Given the description of an element on the screen output the (x, y) to click on. 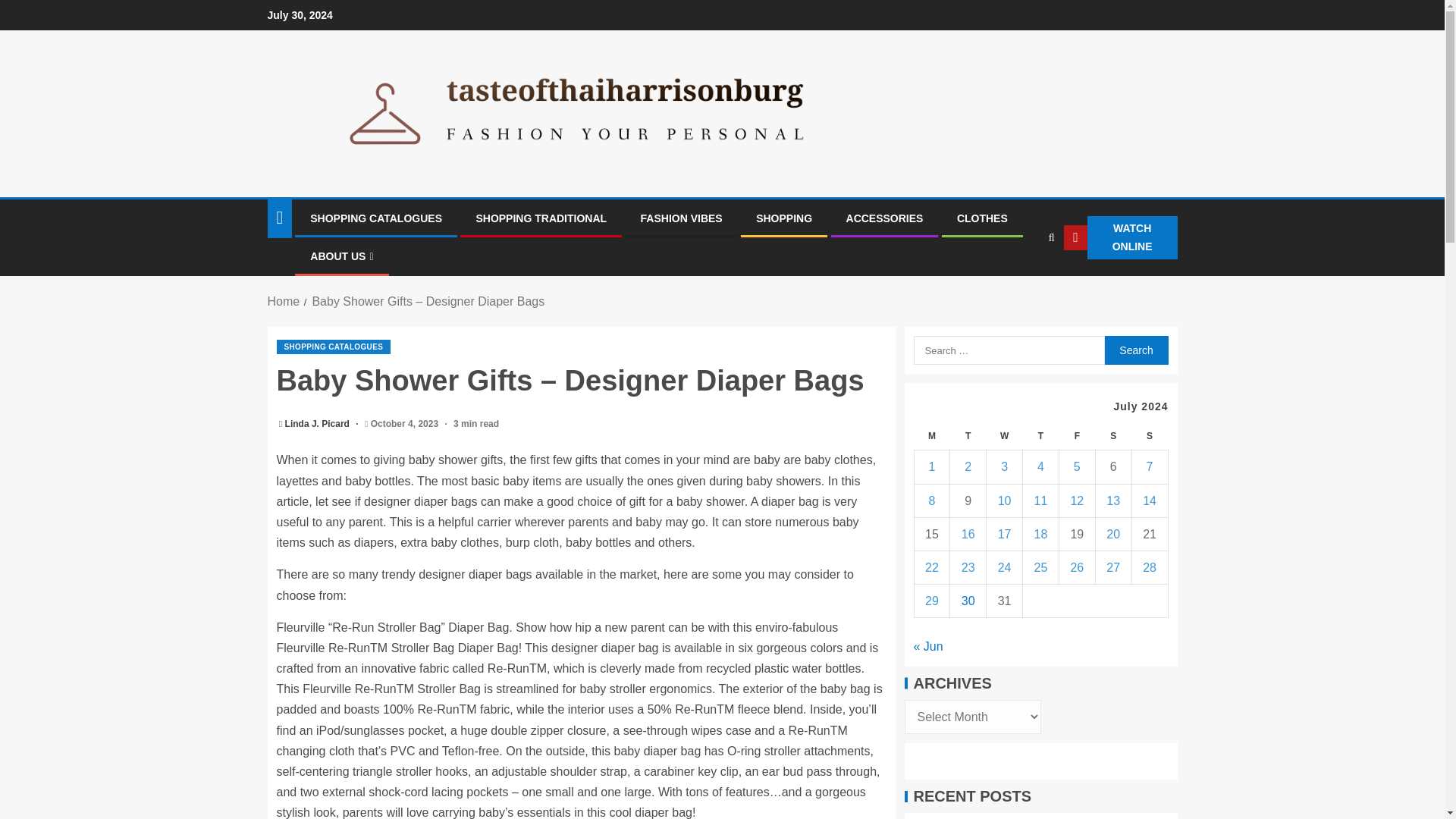
Search (1135, 349)
Home (282, 300)
Friday (1076, 436)
CLOTHES (981, 218)
Saturday (1112, 436)
Search (1135, 349)
Linda J. Picard (318, 423)
Thursday (1041, 436)
SHOPPING CATALOGUES (376, 218)
Search (1020, 284)
SHOPPING (783, 218)
ABOUT US (341, 256)
Wednesday (1005, 436)
Search (1135, 349)
ACCESSORIES (884, 218)
